Given the description of an element on the screen output the (x, y) to click on. 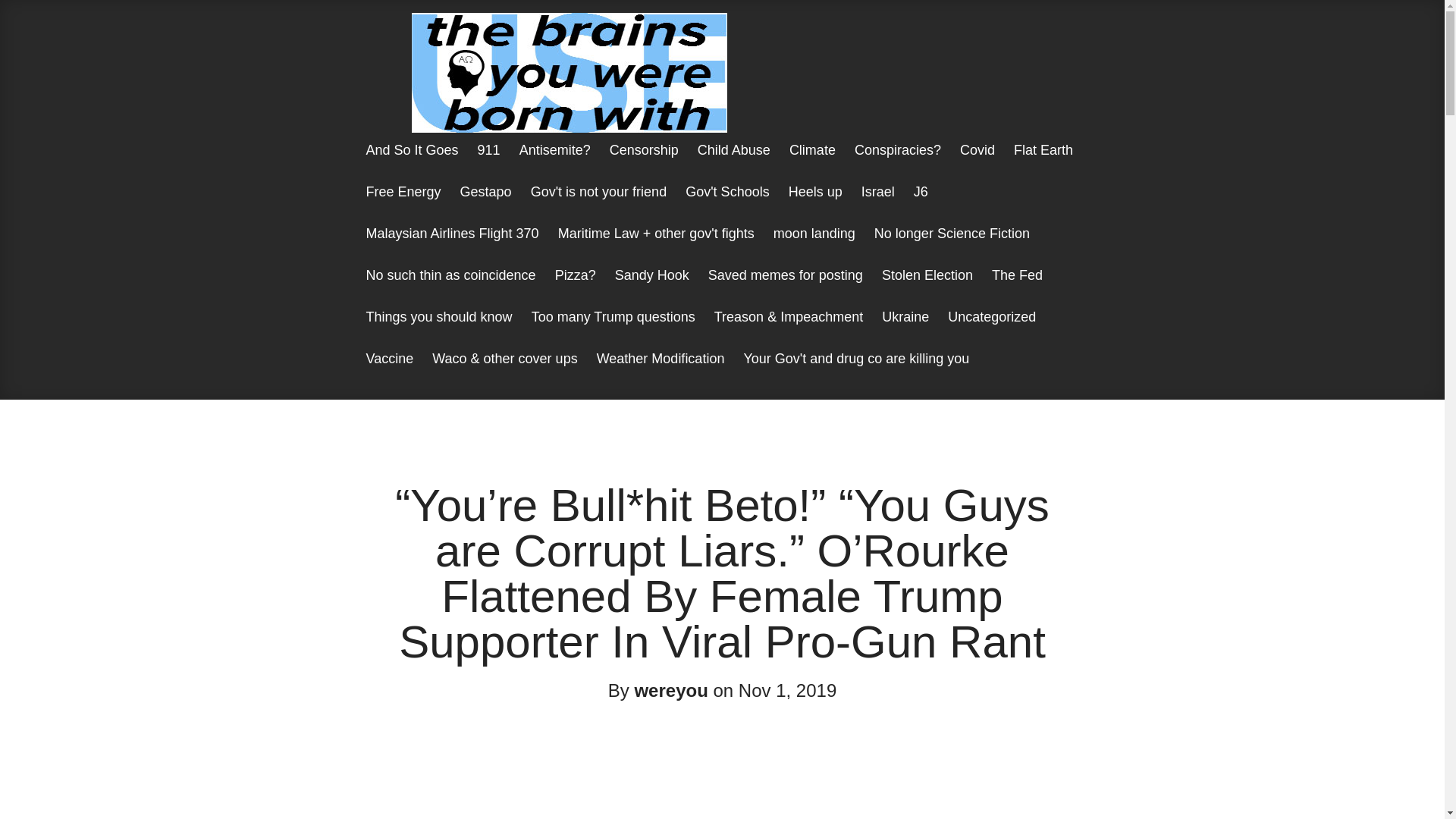
Things you should know (438, 331)
Gov't is not your friend (598, 205)
Saved memes for posting (785, 289)
911 (489, 164)
No such thin as coincidence (450, 289)
Gestapo (485, 205)
Weather Modification (660, 372)
Pizza? (575, 289)
Child Abuse (733, 164)
Censorship (643, 164)
